Given the description of an element on the screen output the (x, y) to click on. 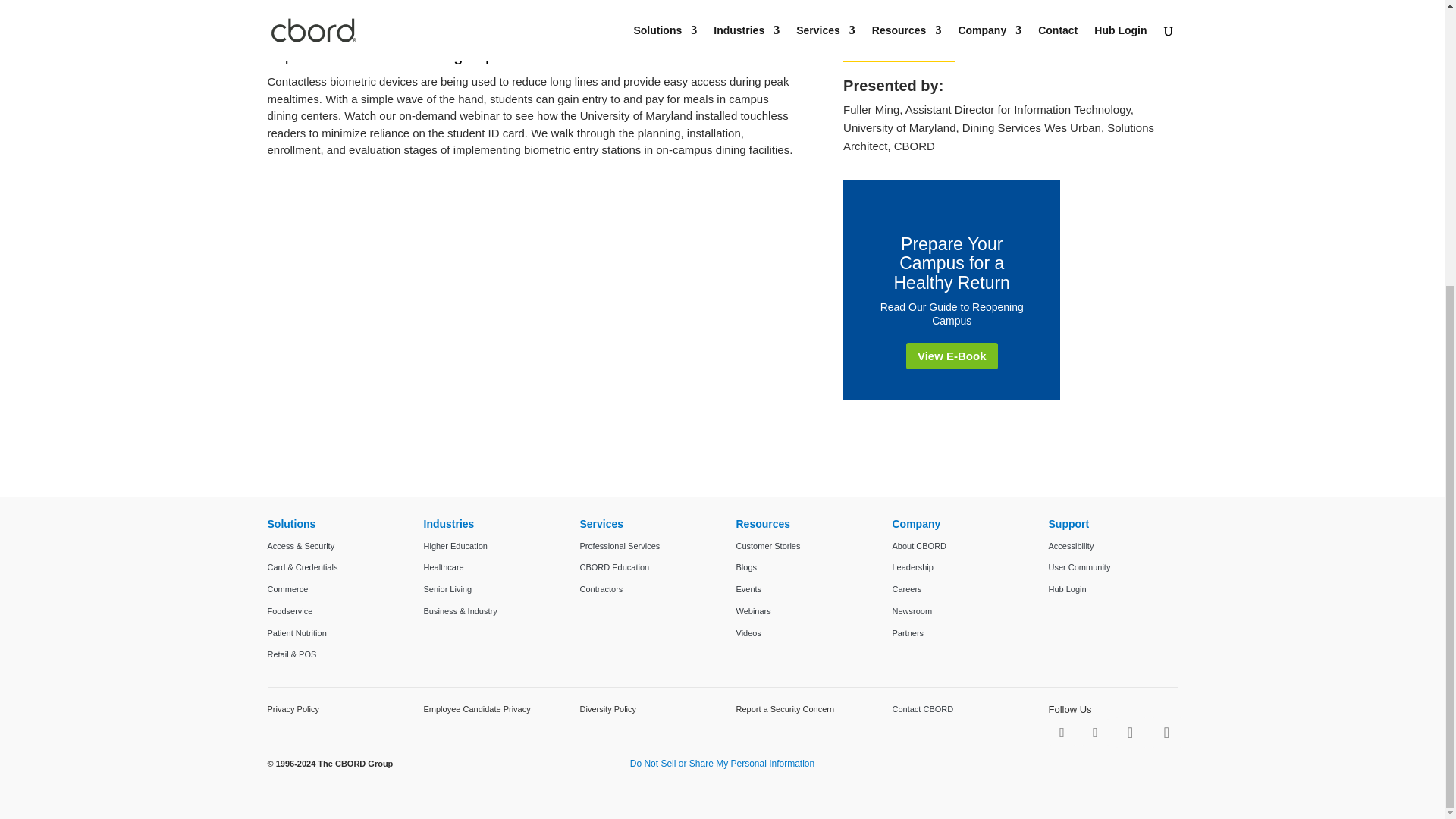
Follow on Youtube (1165, 732)
Follow on LinkedIn (1129, 732)
Follow on Facebook (1061, 732)
Follow on X (1094, 732)
